Given the description of an element on the screen output the (x, y) to click on. 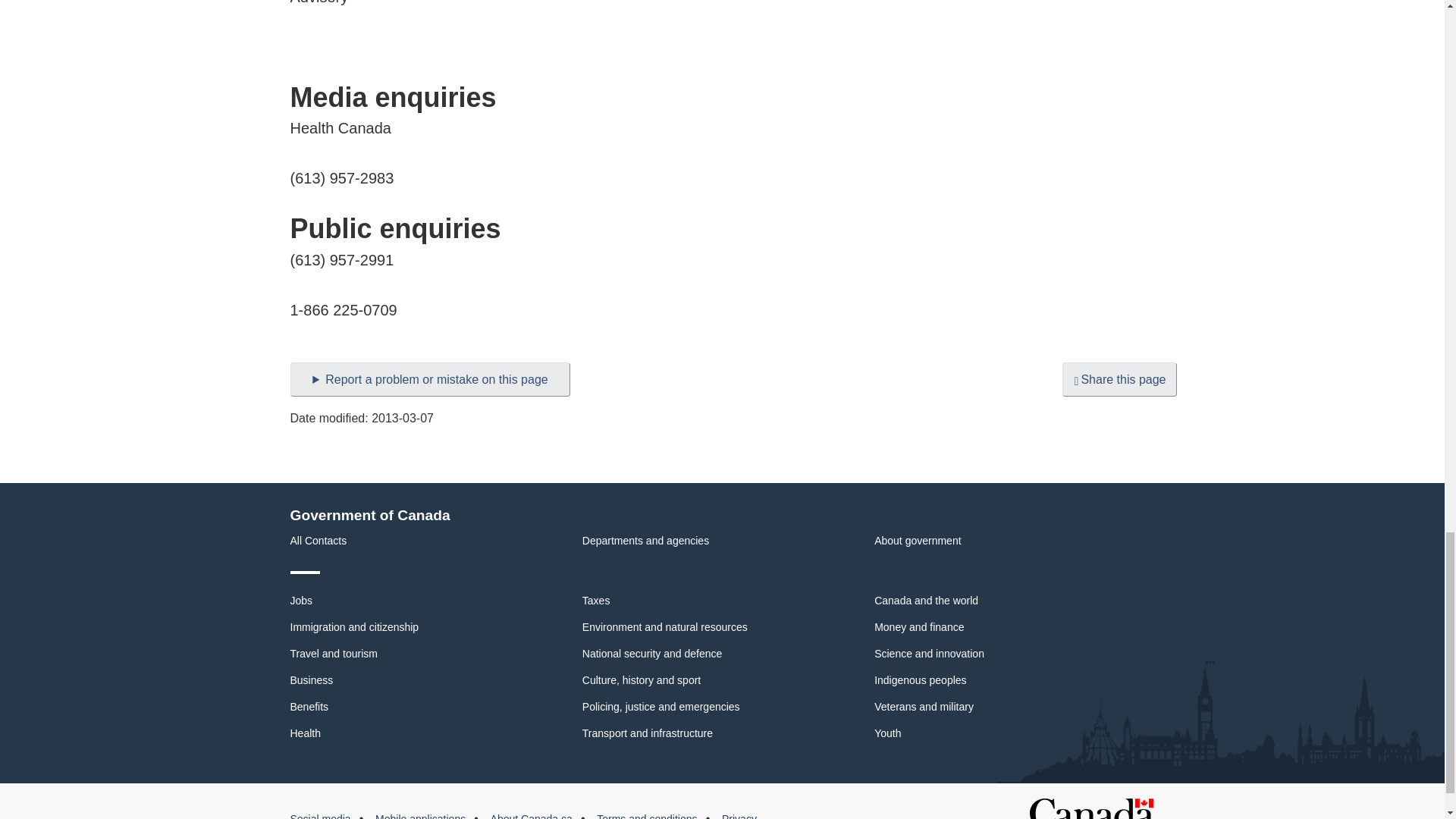
About government (917, 540)
Immigration and citizenship section. (354, 626)
Travel and tourism section. (333, 653)
Business section. (311, 680)
National security and defence (652, 653)
Benefits (309, 706)
Departments and agencies section. (645, 540)
Health (304, 733)
Policing, justice and emergencies (660, 706)
Business (311, 680)
About government section. (917, 540)
Environment and natural resources section. (665, 626)
Taxes (596, 600)
Benefits section. (309, 706)
Taxes section. (596, 600)
